Given the description of an element on the screen output the (x, y) to click on. 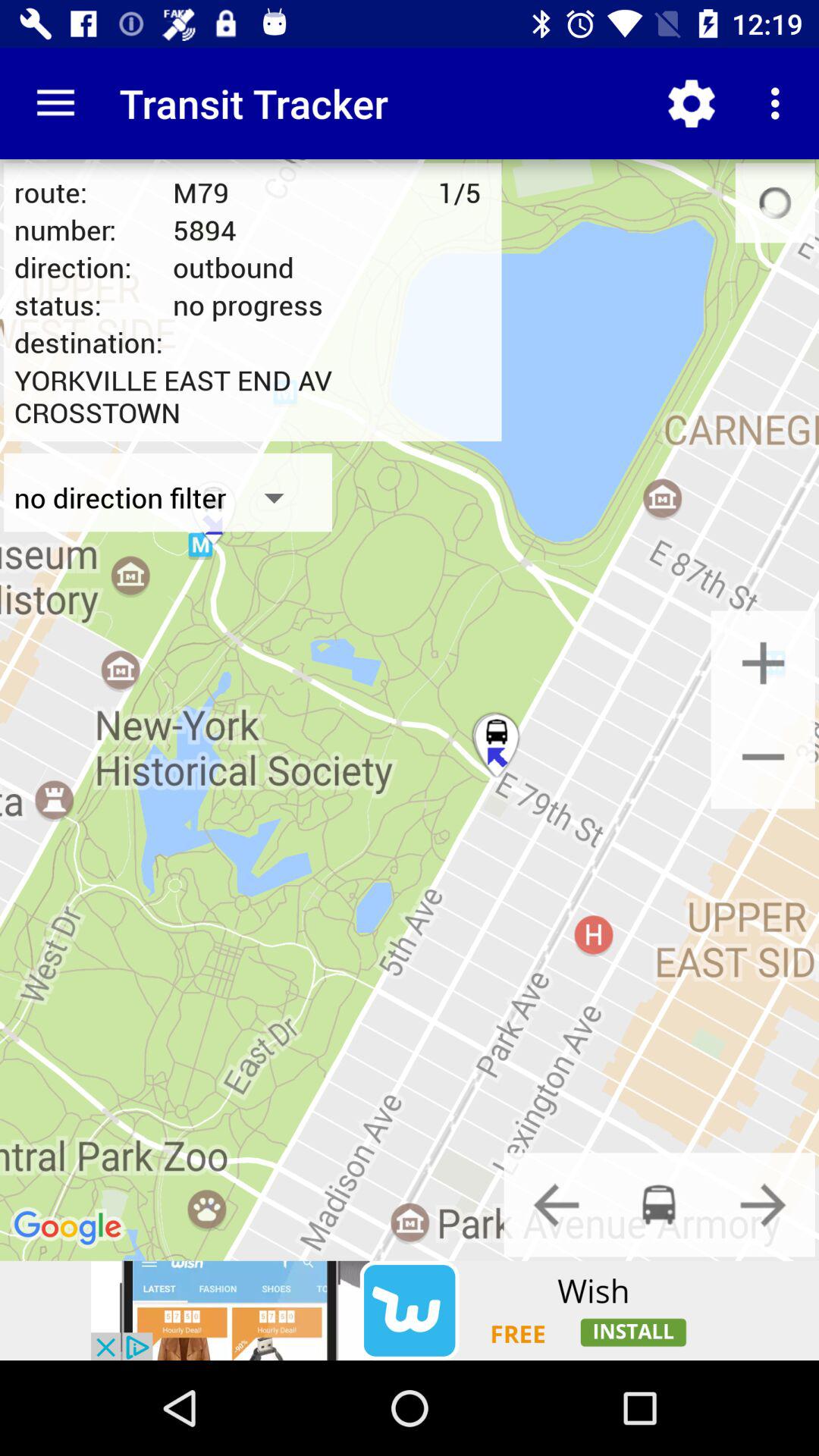
minimise the map (762, 756)
